Given the description of an element on the screen output the (x, y) to click on. 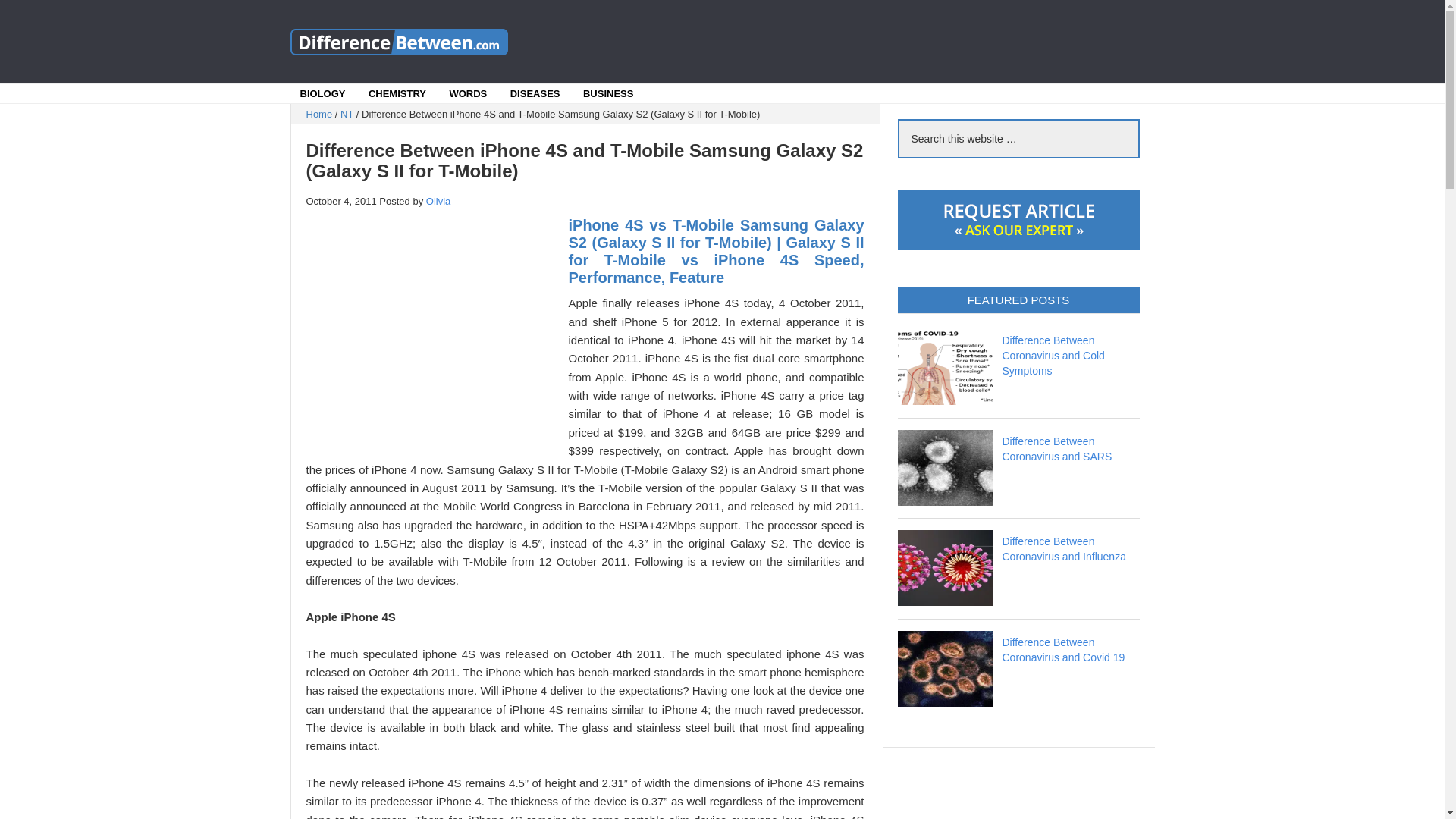
Advertisement (850, 41)
Difference Between Coronavirus and SARS (1057, 448)
Difference Between Coronavirus and Cold Symptoms (1054, 355)
BUSINESS (607, 93)
BIOLOGY (323, 93)
NT (346, 113)
CHEMISTRY (397, 93)
DISEASES (534, 93)
Home (319, 113)
